Given the description of an element on the screen output the (x, y) to click on. 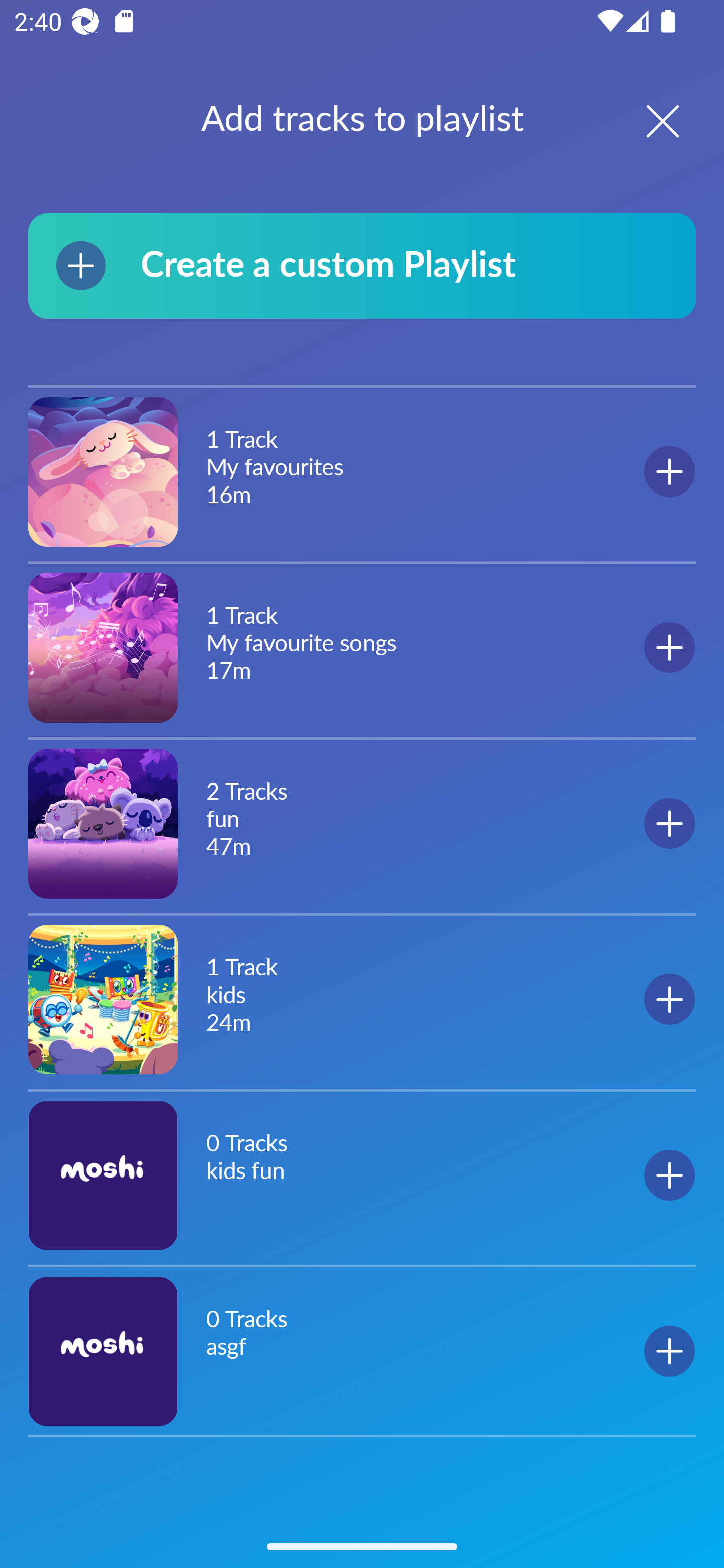
Close (645, 120)
Create a custom Playlist (361, 265)
1 Track My favourites 16m (361, 471)
1 Track My favourite songs 17m (361, 647)
2 Tracks fun 47m (361, 823)
1 Track kids 24m (361, 998)
0 Tracks kids fun (361, 1174)
0 Tracks asgf (361, 1351)
